Given the description of an element on the screen output the (x, y) to click on. 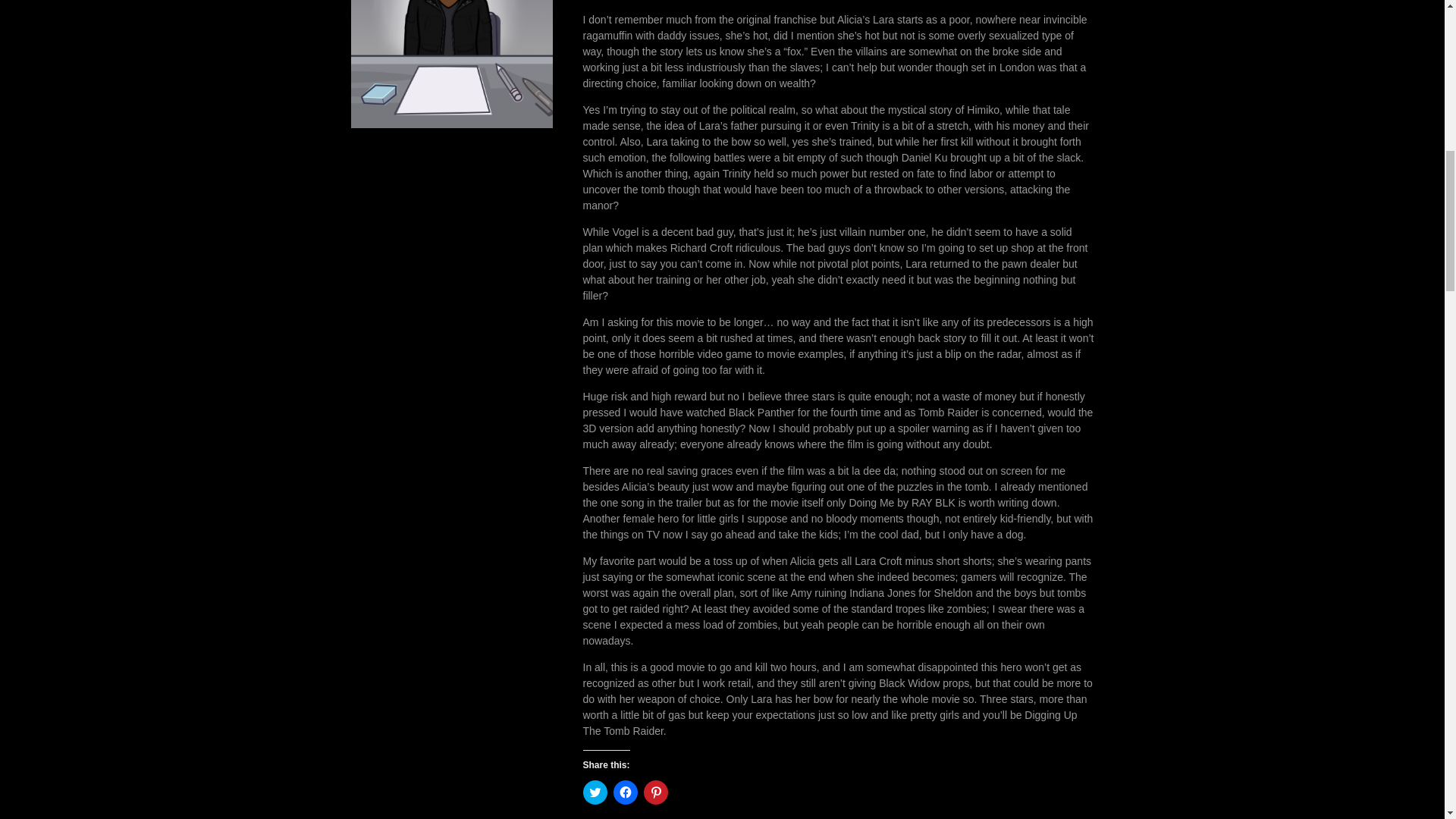
Click to share on Twitter (594, 792)
Click to share on Pinterest (654, 792)
Click to share on Facebook (624, 792)
